Given the description of an element on the screen output the (x, y) to click on. 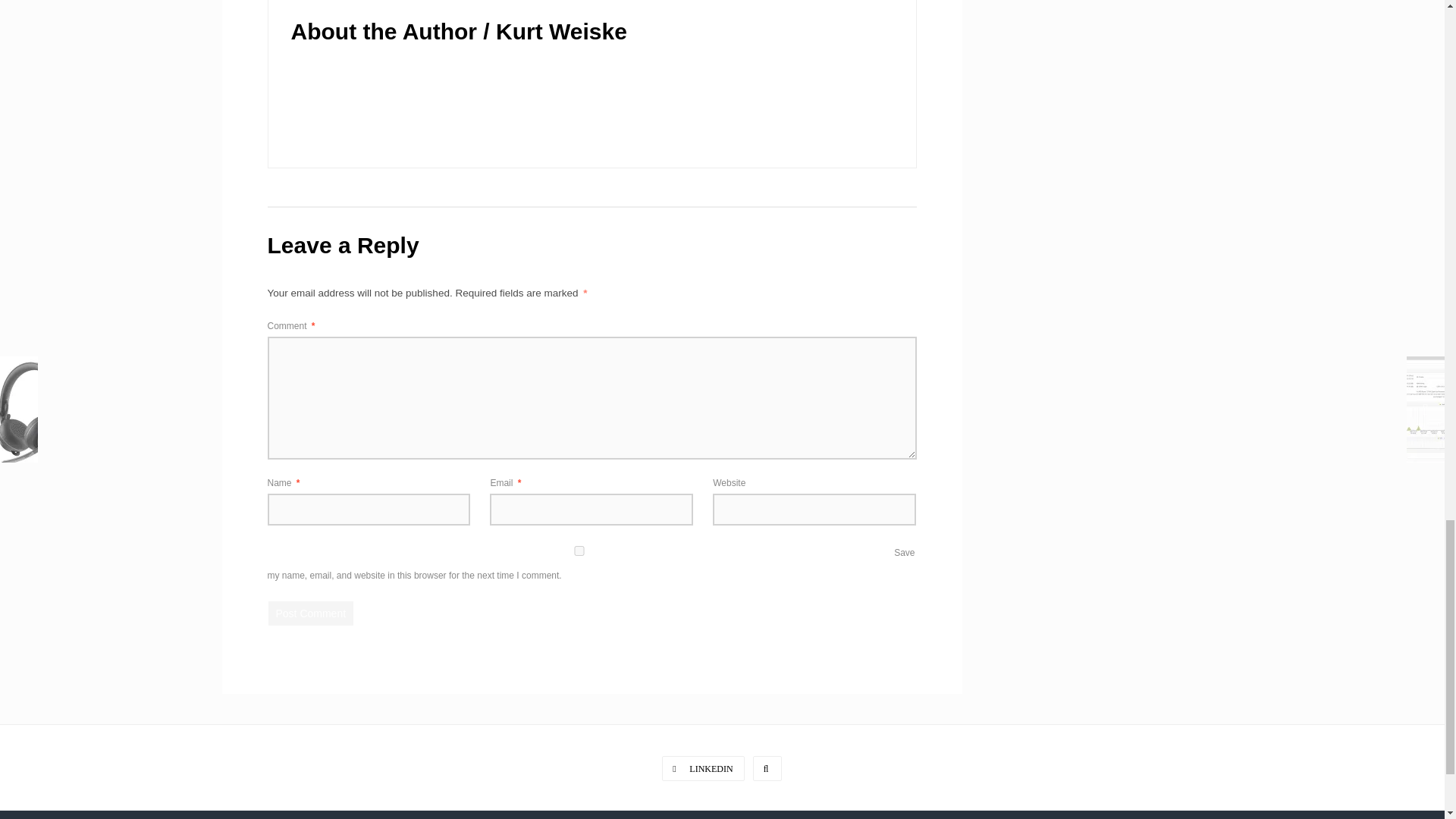
yes (578, 551)
LINKEDIN (703, 768)
Posts by Kurt Weiske (561, 31)
Kurt Weiske (561, 31)
LinkedIn (703, 768)
Post Comment (310, 612)
Post Comment (310, 612)
